Given the description of an element on the screen output the (x, y) to click on. 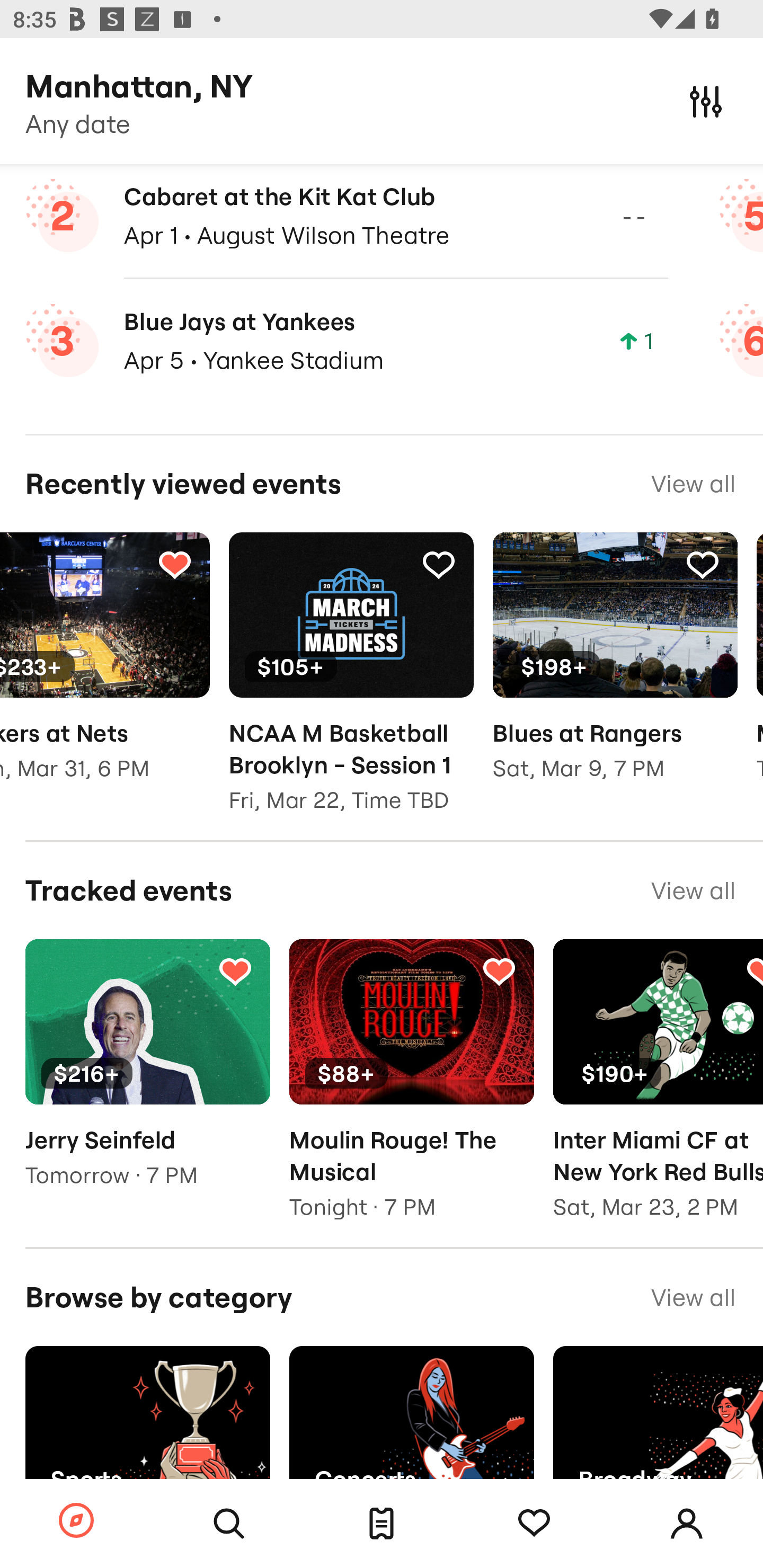
Filters (705, 100)
View all (693, 484)
Tracking $233+ Lakers at Nets Sun, Mar 31, 6 PM (104, 670)
Tracking $198+ Blues at Rangers Sat, Mar 9, 7 PM (614, 670)
Tracking (174, 564)
Tracking (438, 564)
Tracking (702, 564)
View all (693, 890)
Tracking $216+ Jerry Seinfeld Tomorrow · 7 PM (147, 1076)
Tracking (234, 970)
Tracking (498, 970)
View all (693, 1297)
Sports (147, 1428)
Concerts (411, 1428)
Broadway (658, 1428)
Browse (76, 1521)
Search (228, 1523)
Tickets (381, 1523)
Tracking (533, 1523)
Account (686, 1523)
